Given the description of an element on the screen output the (x, y) to click on. 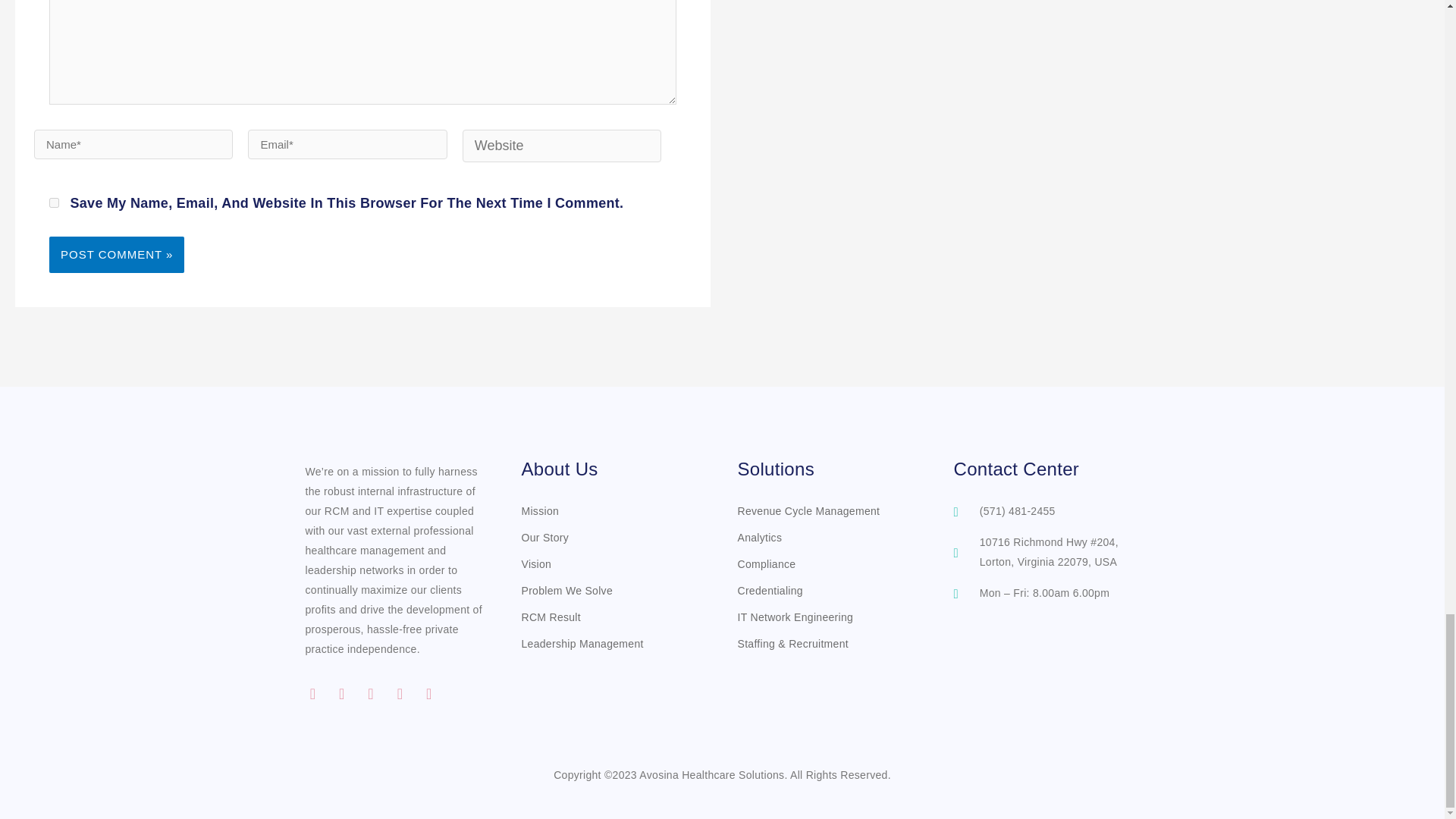
yes (54, 203)
